Given the description of an element on the screen output the (x, y) to click on. 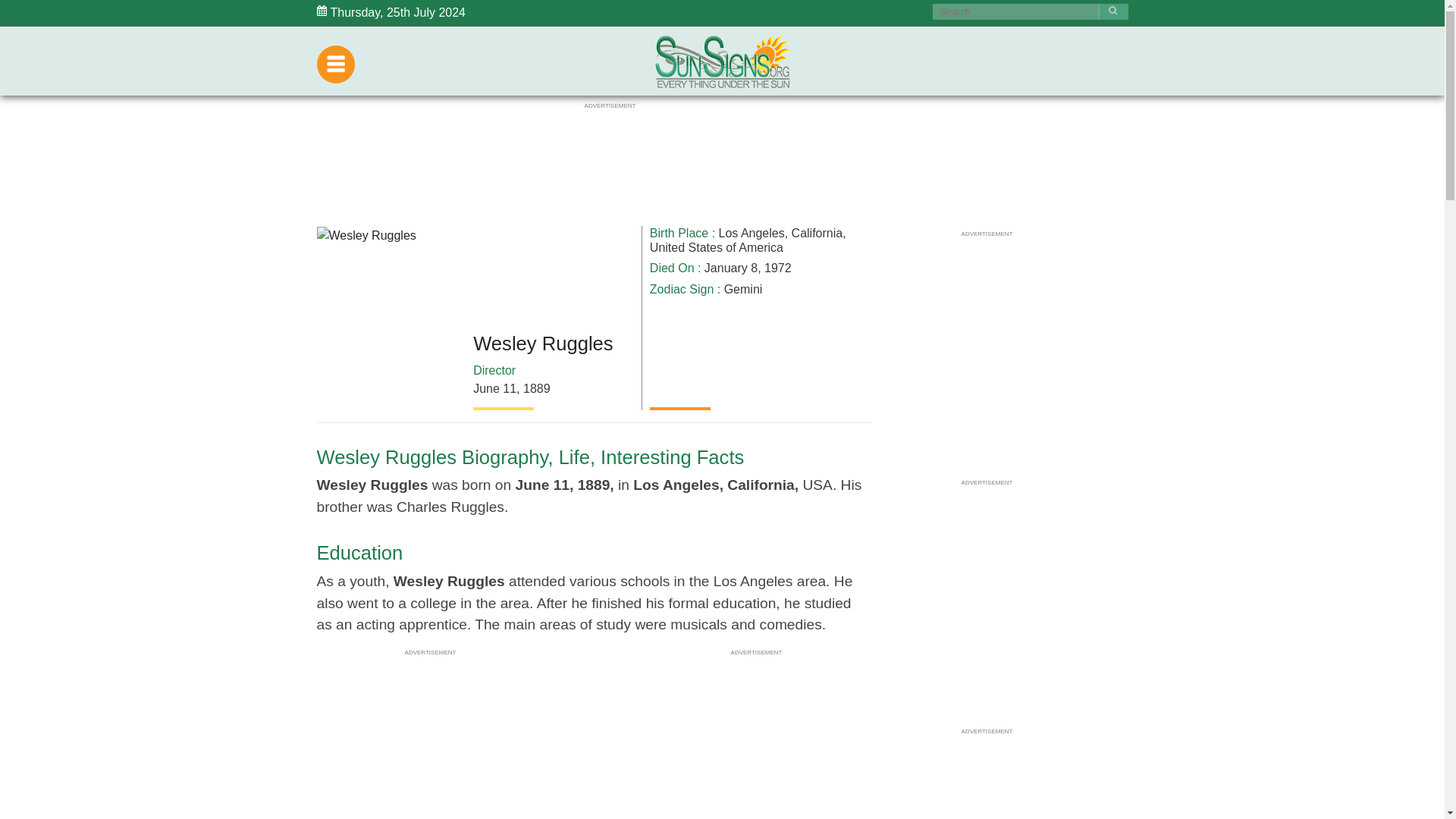
1972 (778, 267)
January 8 (730, 267)
Gemini (742, 288)
United States of America (716, 246)
Los Angeles (751, 232)
Director (494, 369)
June 11 (494, 388)
California (817, 232)
Zodiac Sign (681, 288)
1889 (536, 388)
